Given the description of an element on the screen output the (x, y) to click on. 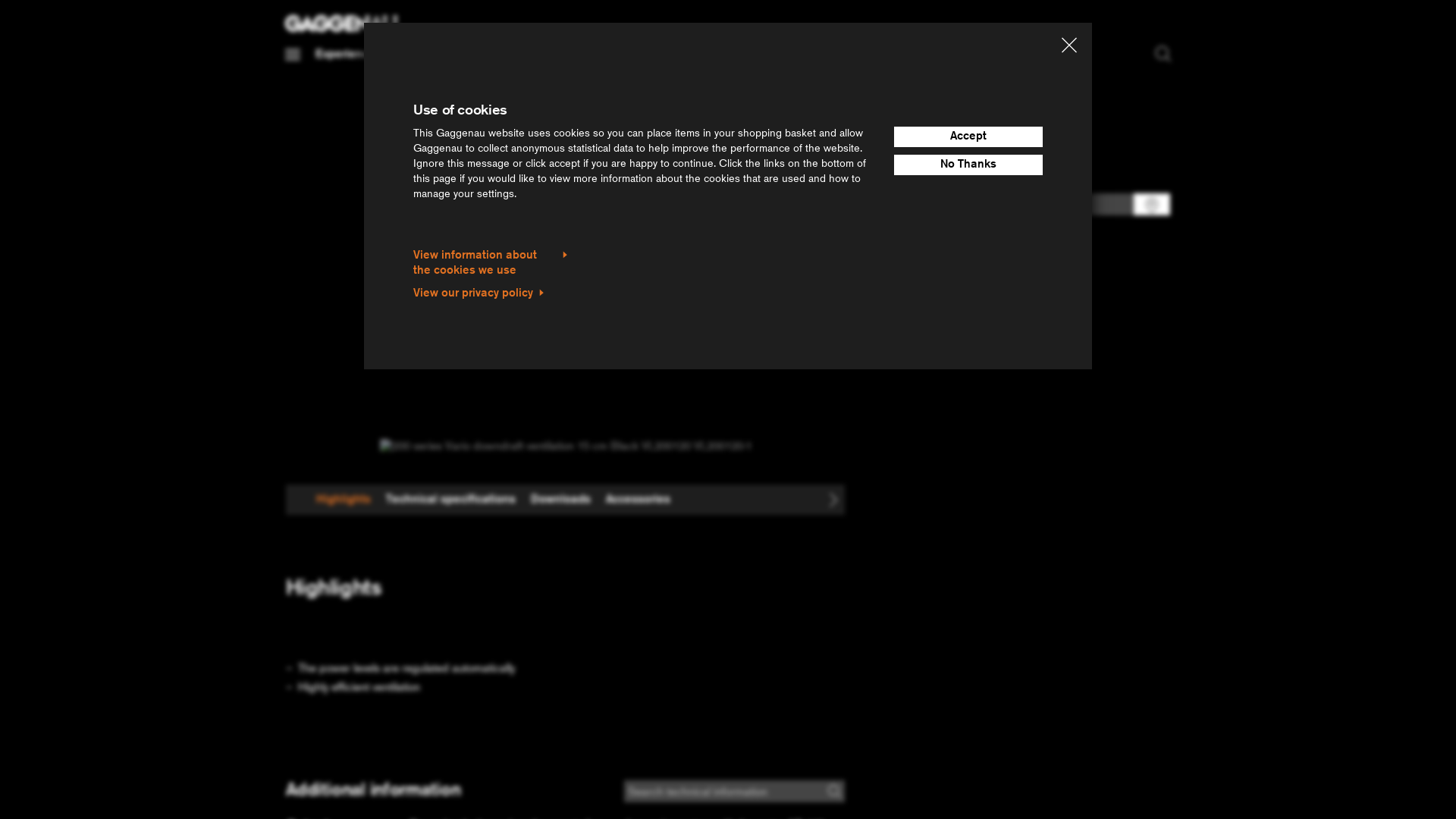
No Thanks Element type: text (968, 164)
For partners Element type: text (582, 54)
Downloads Element type: text (560, 499)
For owners Element type: text (501, 54)
Accessories Element type: text (637, 499)
Accept Element type: text (968, 136)
View our privacy policy Element type: text (478, 293)
Technical specifications Element type: text (450, 499)
[global.common.btn.next] Element type: text (833, 499)
Highlights Element type: text (343, 499)
Appliances Element type: text (424, 54)
Close layer Element type: text (1068, 47)
Experience Element type: text (346, 54)
Visit Us Element type: text (651, 54)
View information about the cookies we use Element type: text (490, 262)
